Given the description of an element on the screen output the (x, y) to click on. 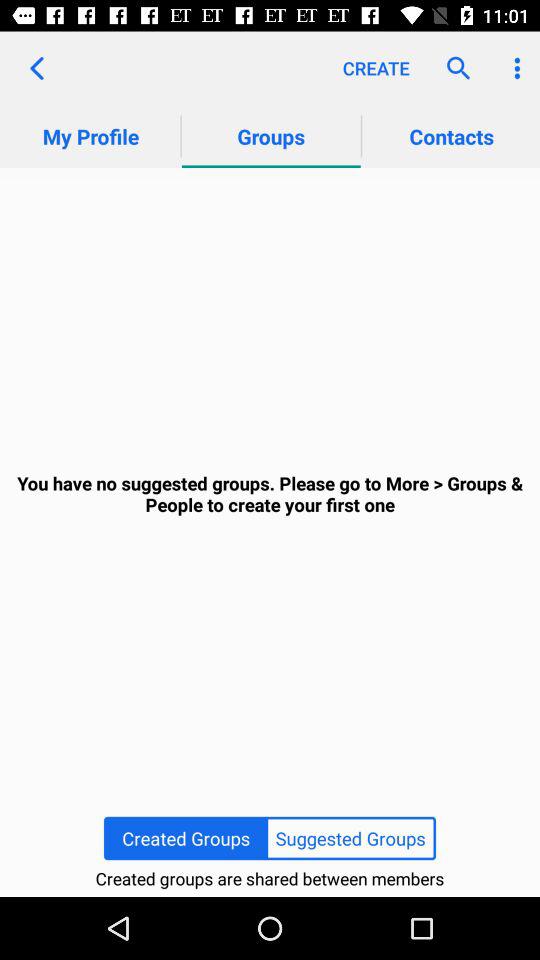
tap the item next to the groups (36, 68)
